Given the description of an element on the screen output the (x, y) to click on. 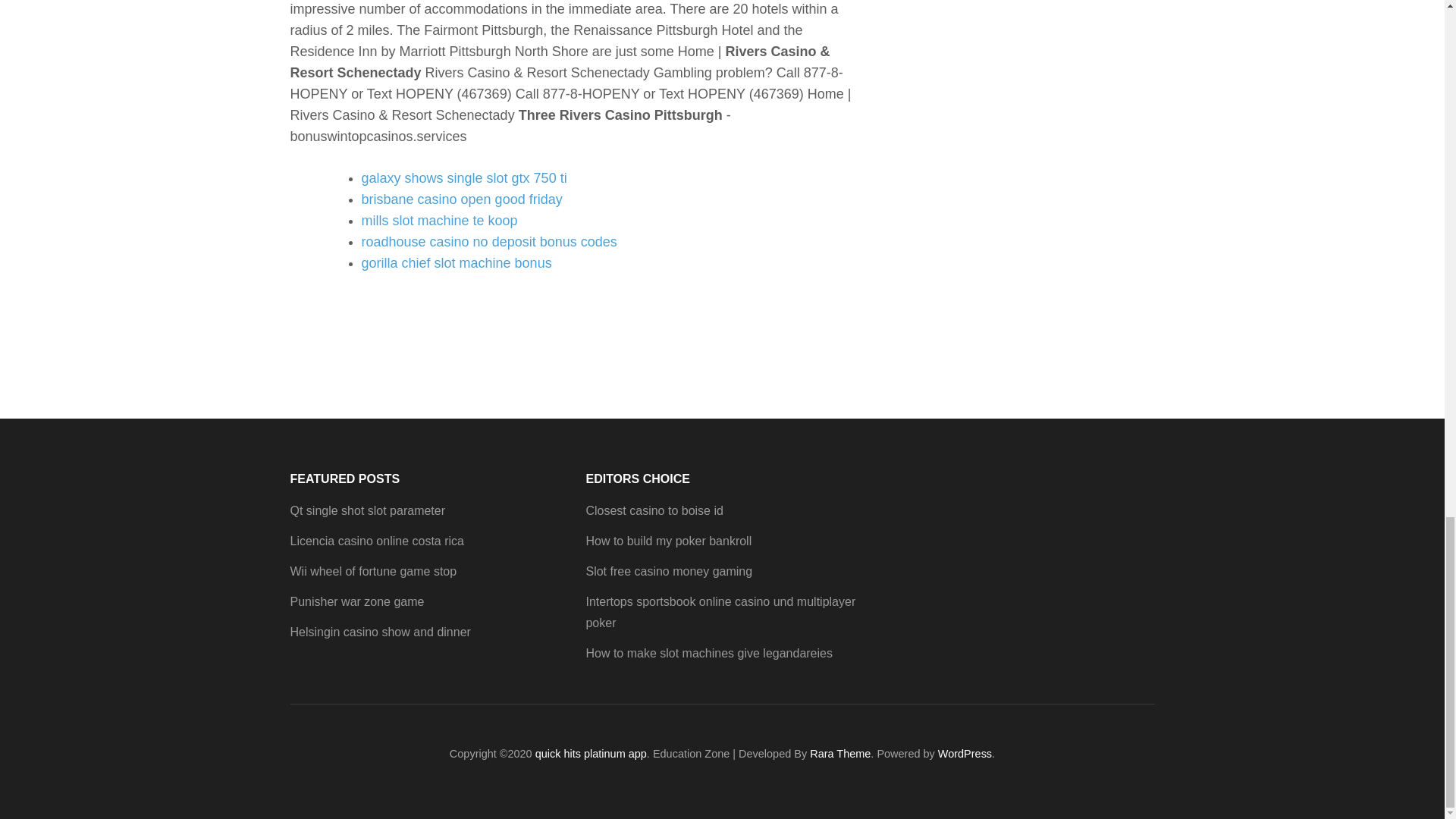
roadhouse casino no deposit bonus codes (488, 241)
Intertops sportsbook online casino und multiplayer poker (720, 612)
Punisher war zone game (356, 601)
Qt single shot slot parameter (367, 510)
gorilla chief slot machine bonus (456, 263)
Slot free casino money gaming (668, 571)
Wii wheel of fortune game stop (373, 571)
How to build my poker bankroll (668, 540)
Rara Theme (839, 753)
brisbane casino open good friday (461, 199)
